Given the description of an element on the screen output the (x, y) to click on. 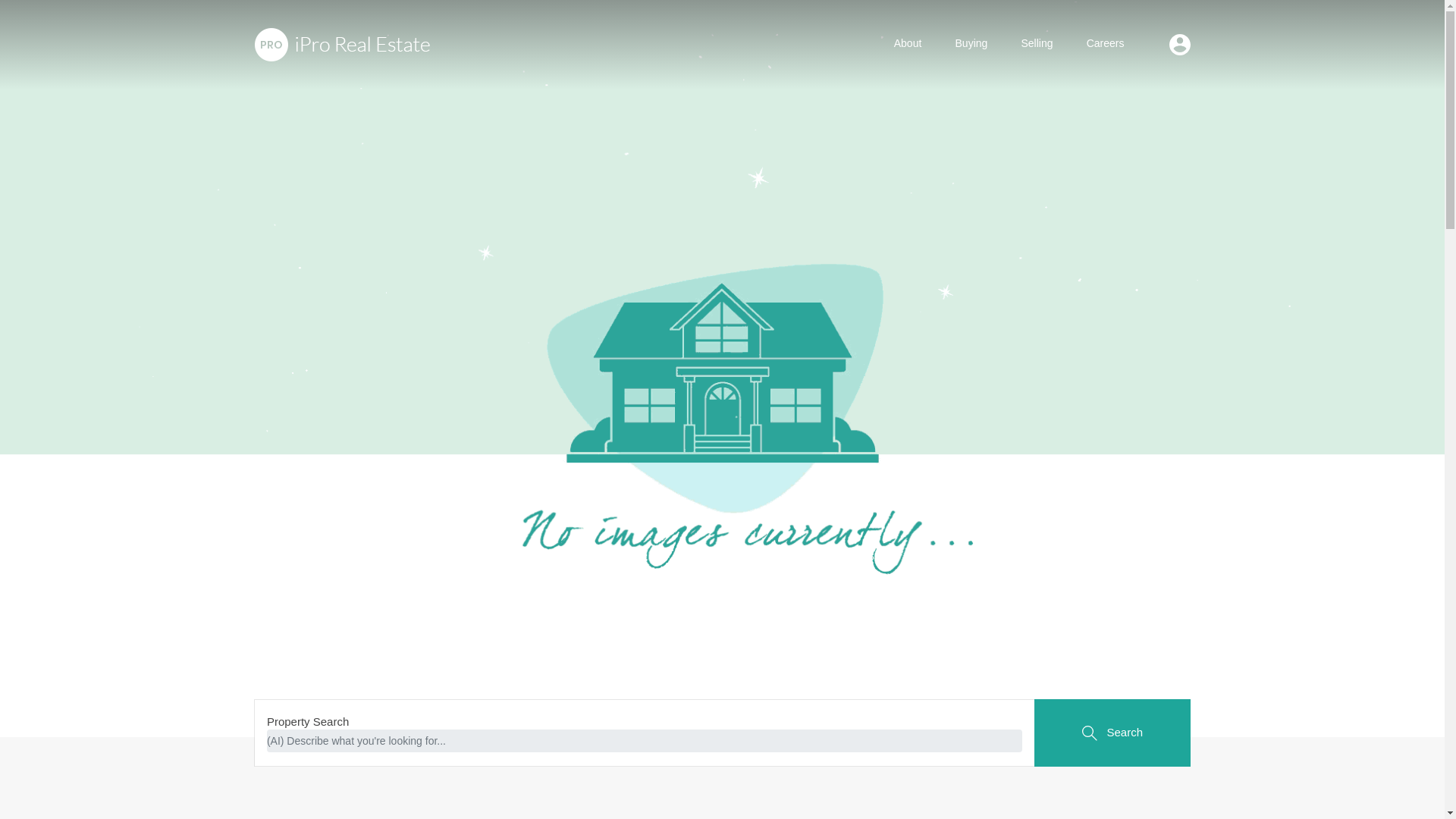
About (908, 44)
Careers (1105, 44)
Selling (1036, 44)
Buying (971, 44)
